Given the description of an element on the screen output the (x, y) to click on. 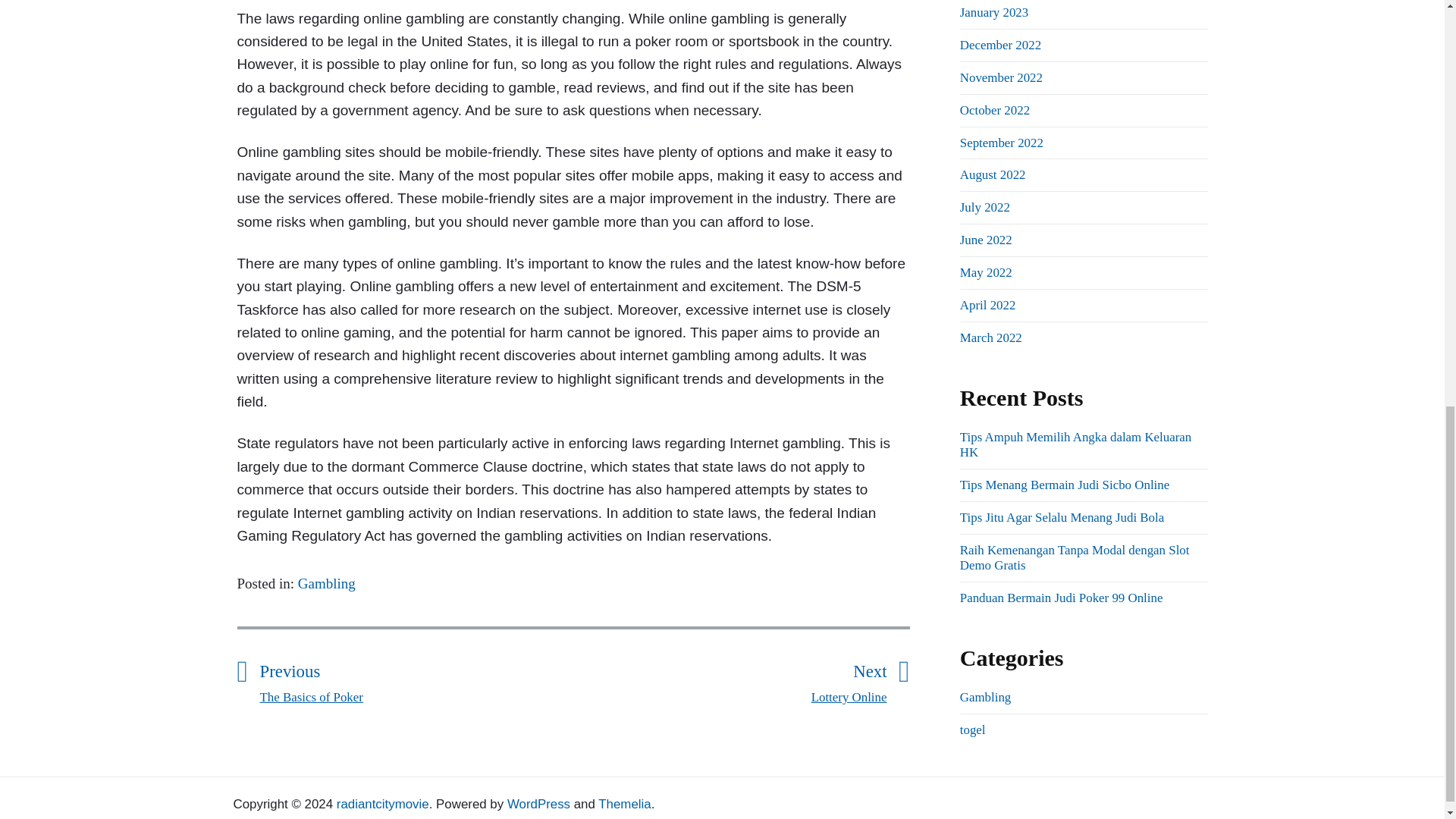
May 2022 (985, 272)
August 2022 (992, 174)
November 2022 (1000, 77)
April 2022 (987, 305)
October 2022 (994, 110)
Tips Menang Bermain Judi Sicbo Online (1064, 484)
Tips Ampuh Memilih Angka dalam Keluaran HK (1075, 444)
Gambling (326, 583)
June 2022 (985, 239)
July 2022 (984, 206)
December 2022 (729, 679)
September 2022 (1000, 44)
January 2023 (1001, 142)
